Given the description of an element on the screen output the (x, y) to click on. 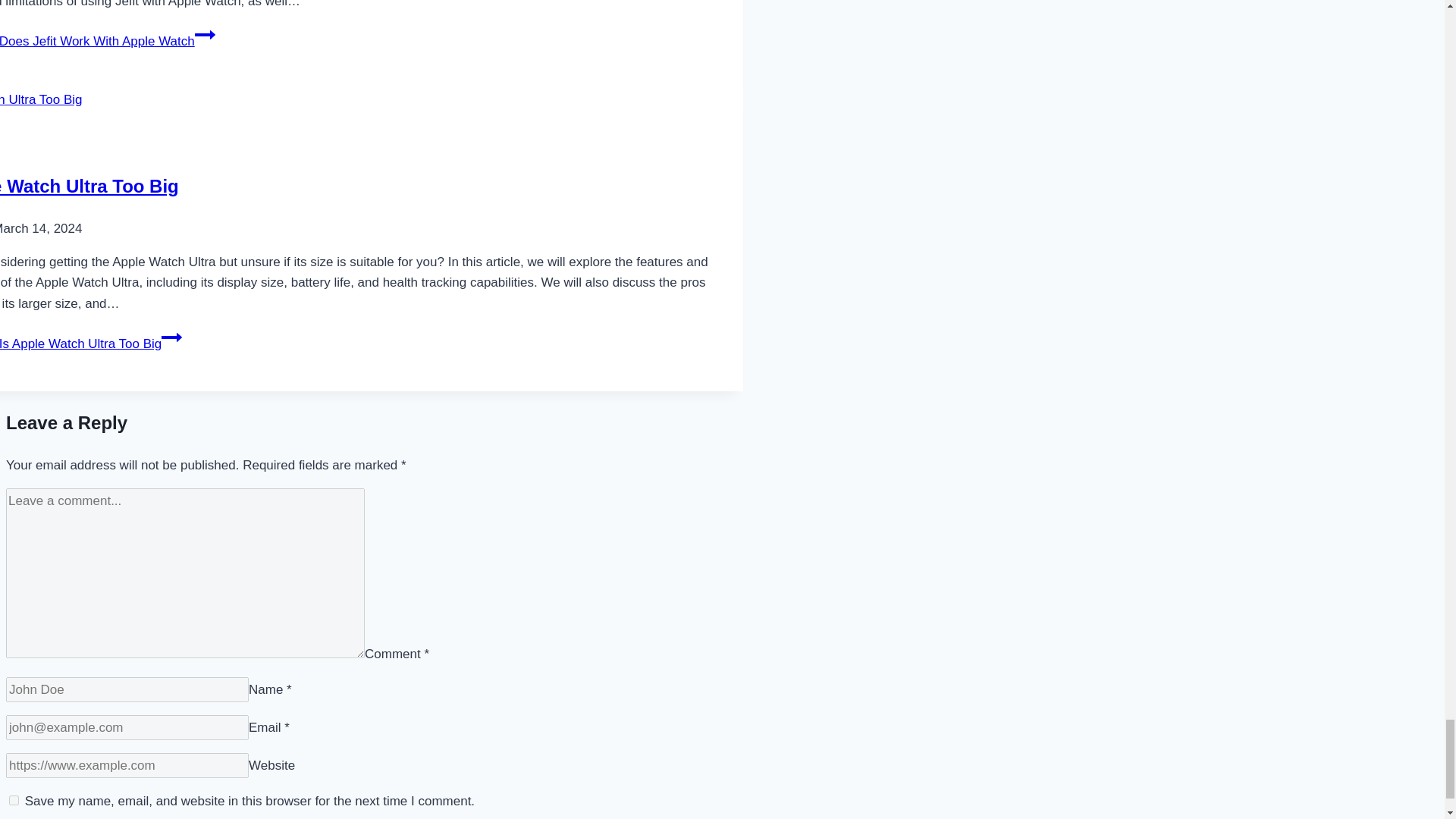
Read More Does Jefit Work With Apple WatchContinue (107, 41)
yes (13, 800)
Continue (205, 34)
Continue (171, 337)
